Given the description of an element on the screen output the (x, y) to click on. 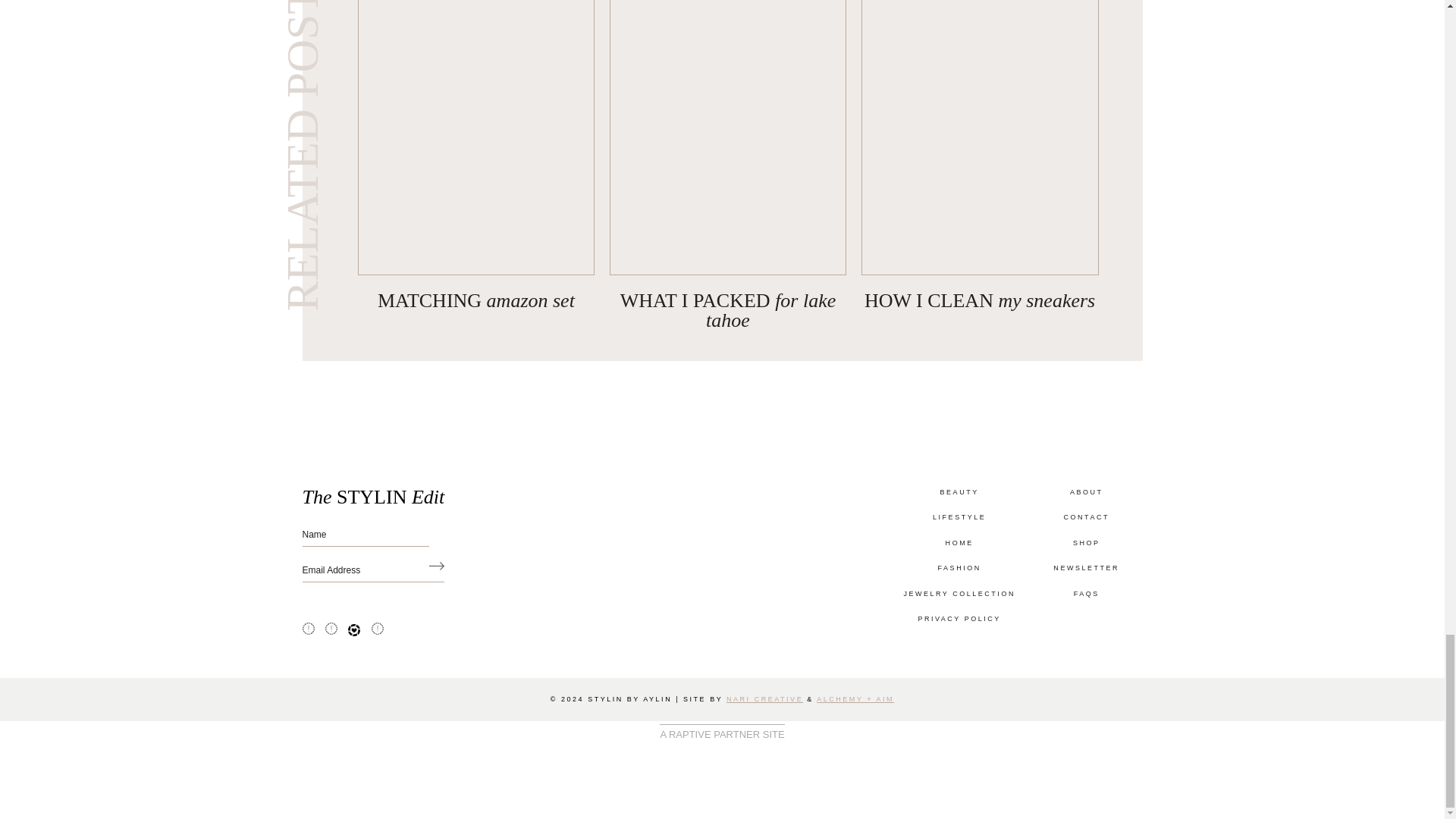
HOW I CLEAN my sneakers (979, 300)
WHAT I PAXKED for lake tahoe (727, 310)
Matching amazon set (476, 300)
